Given the description of an element on the screen output the (x, y) to click on. 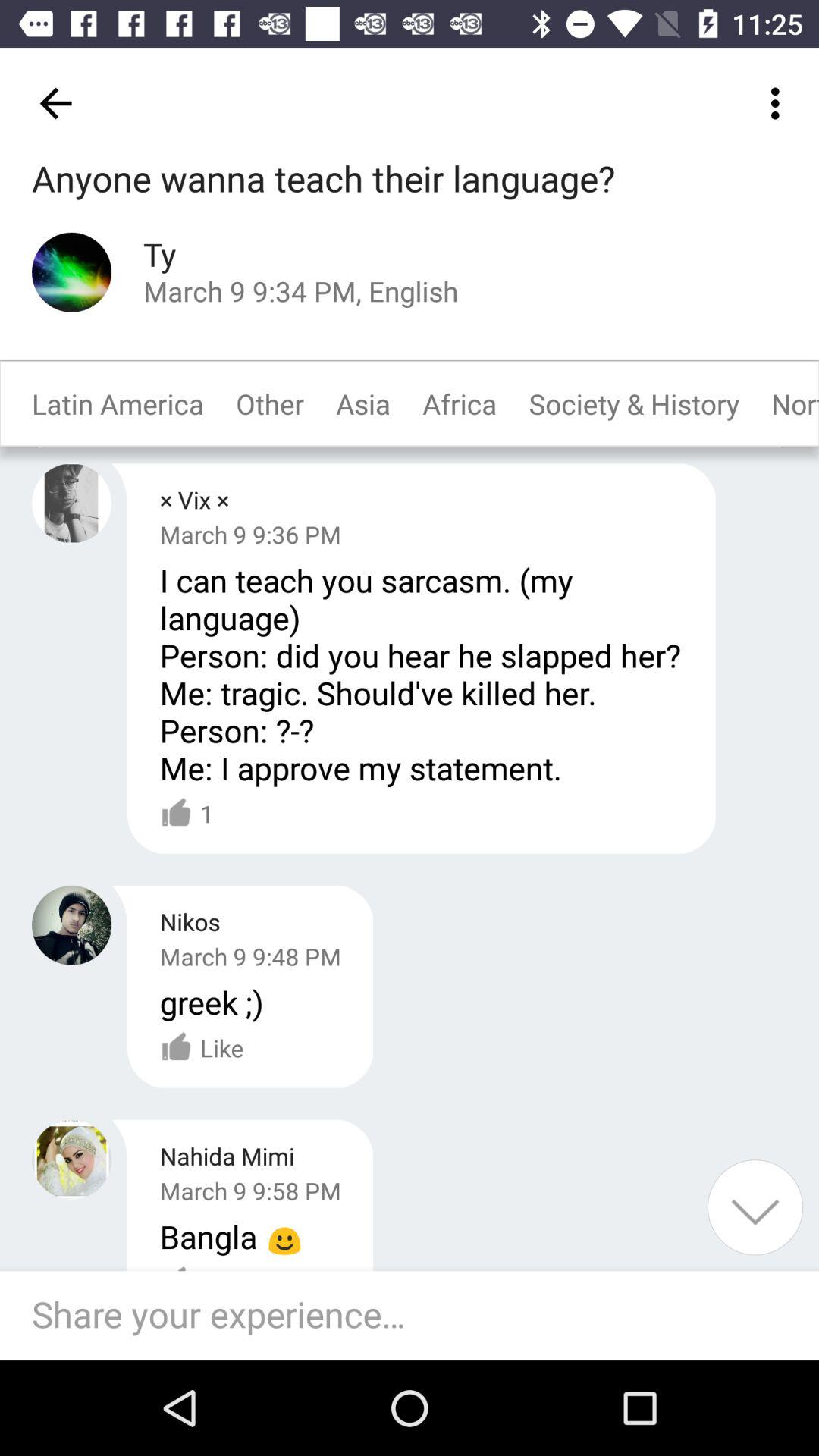
click on more icon options (779, 103)
click on the image which is left to ty (71, 272)
click on first comment profile picture (71, 503)
